Given the description of an element on the screen output the (x, y) to click on. 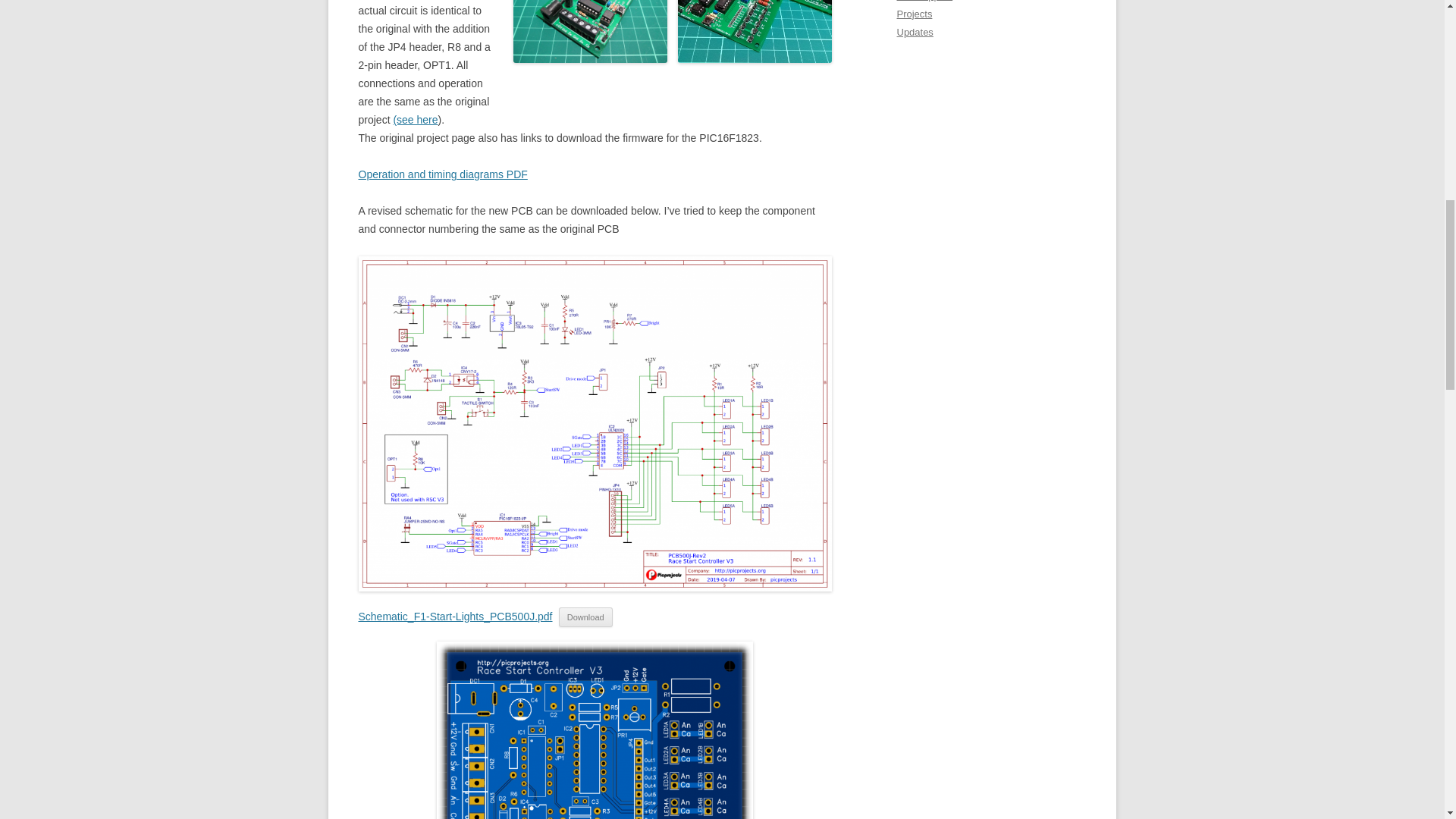
Download (585, 617)
Operation and timing diagrams PDF (442, 174)
